Given the description of an element on the screen output the (x, y) to click on. 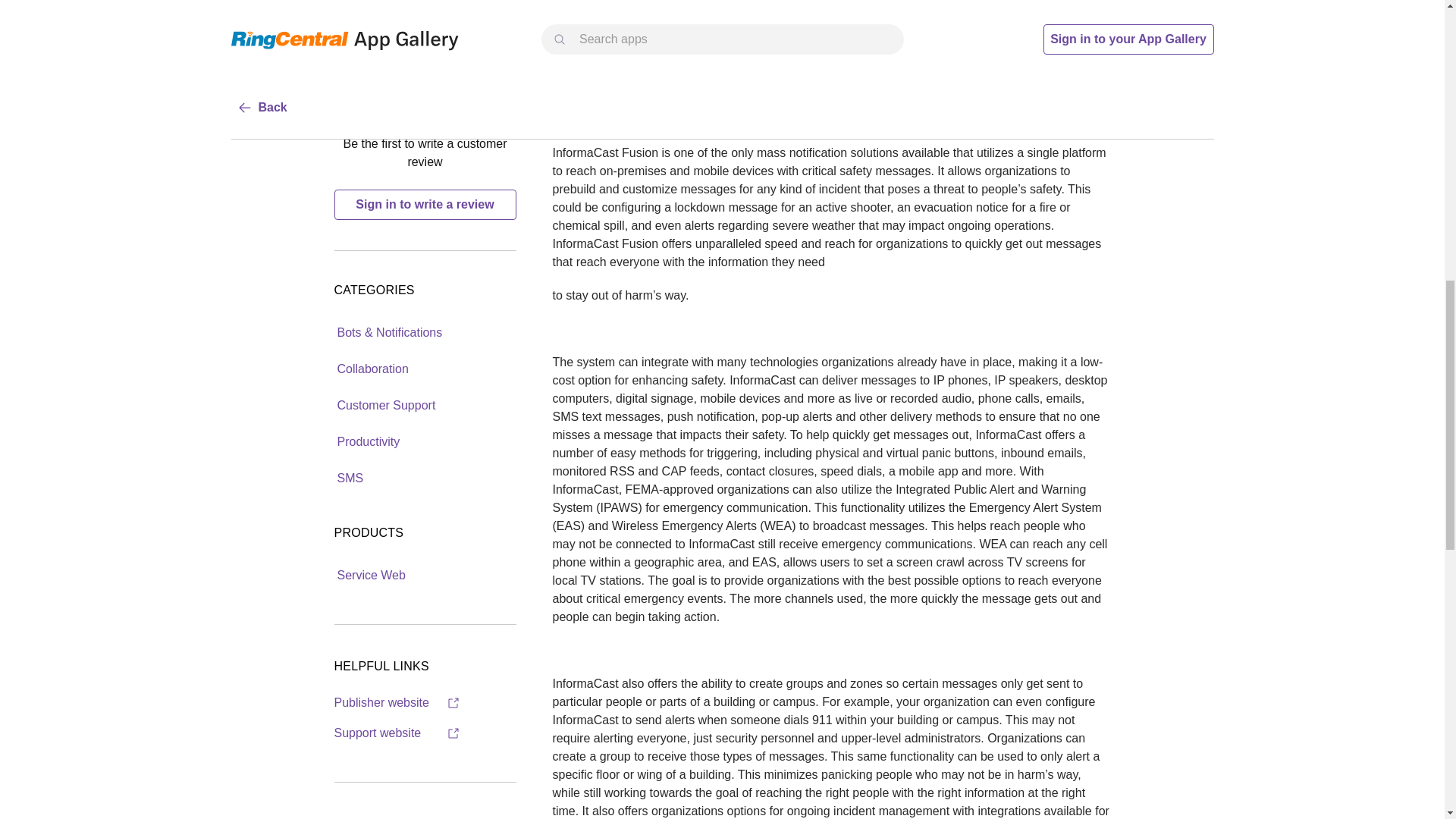
Productivity (368, 441)
Support website (395, 732)
Customer Support (385, 404)
Publisher website (395, 702)
Sign in to write a review (424, 204)
Collaboration (371, 367)
Customer Support (385, 405)
Collaboration (371, 368)
SMS (349, 477)
Service Web (370, 575)
Productivity (368, 440)
SMS (349, 478)
Service Web (370, 574)
